Given the description of an element on the screen output the (x, y) to click on. 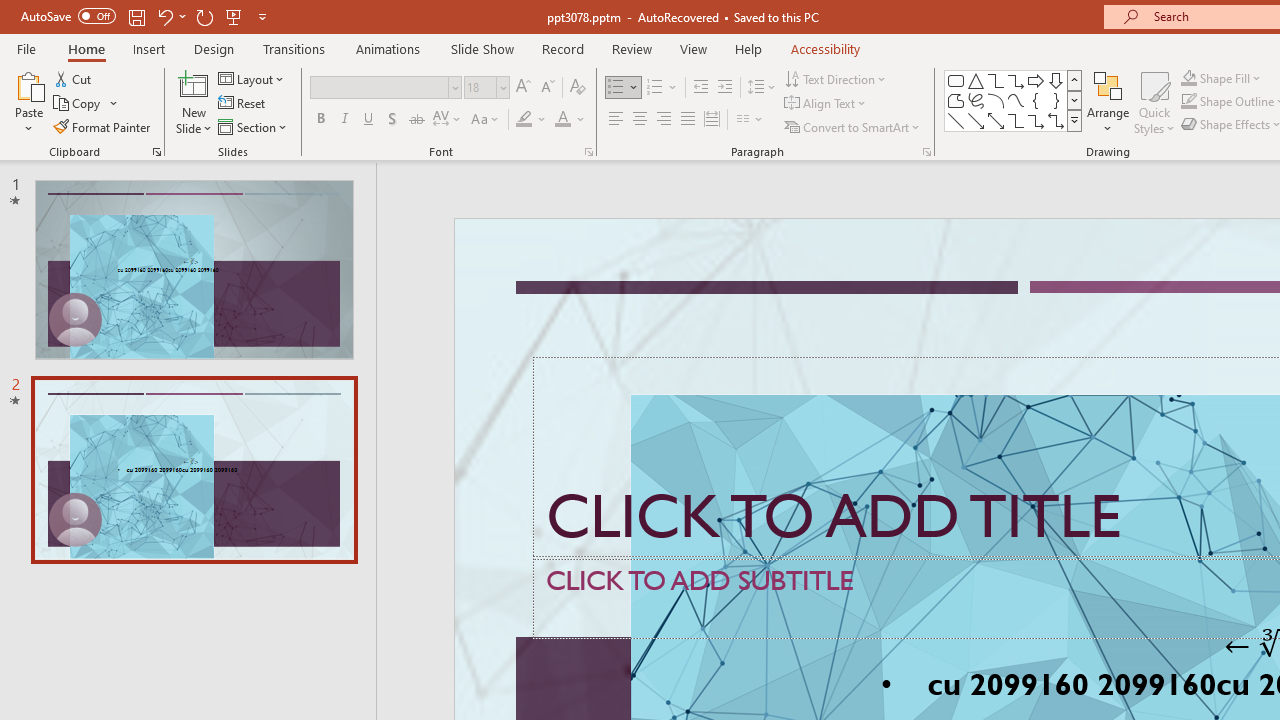
From Beginning (234, 15)
Italic (344, 119)
Right Brace (1055, 100)
Character Spacing (447, 119)
Copy (85, 103)
Design (214, 48)
Layout (252, 78)
Curve (1016, 100)
Section (254, 126)
Open (502, 87)
AutoSave (68, 16)
Distributed (712, 119)
Arrow: Down (1055, 80)
Underline (369, 119)
Change Case (486, 119)
